Given the description of an element on the screen output the (x, y) to click on. 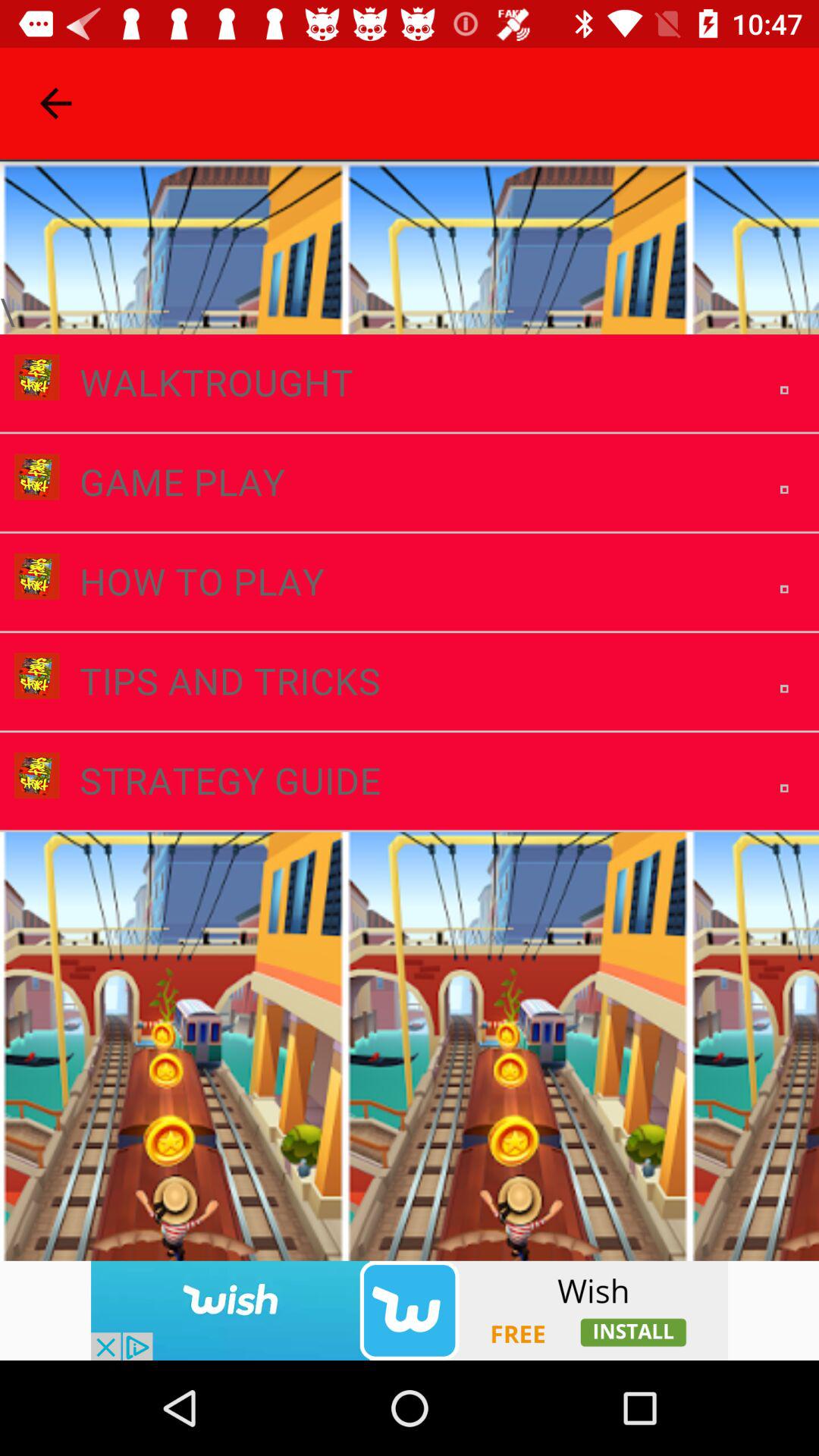
advertisement (409, 1310)
